Given the description of an element on the screen output the (x, y) to click on. 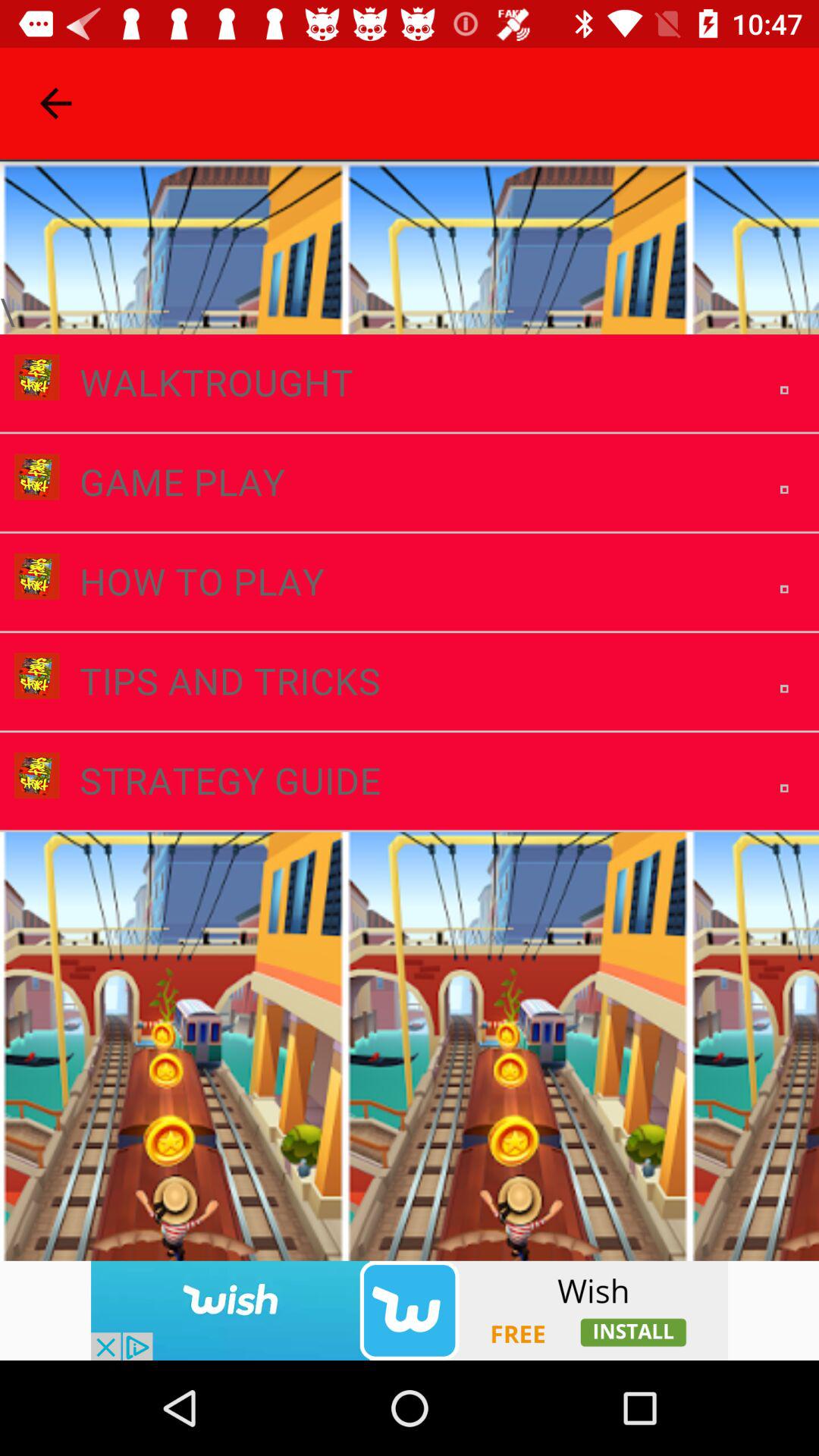
advertisement (409, 1310)
